Given the description of an element on the screen output the (x, y) to click on. 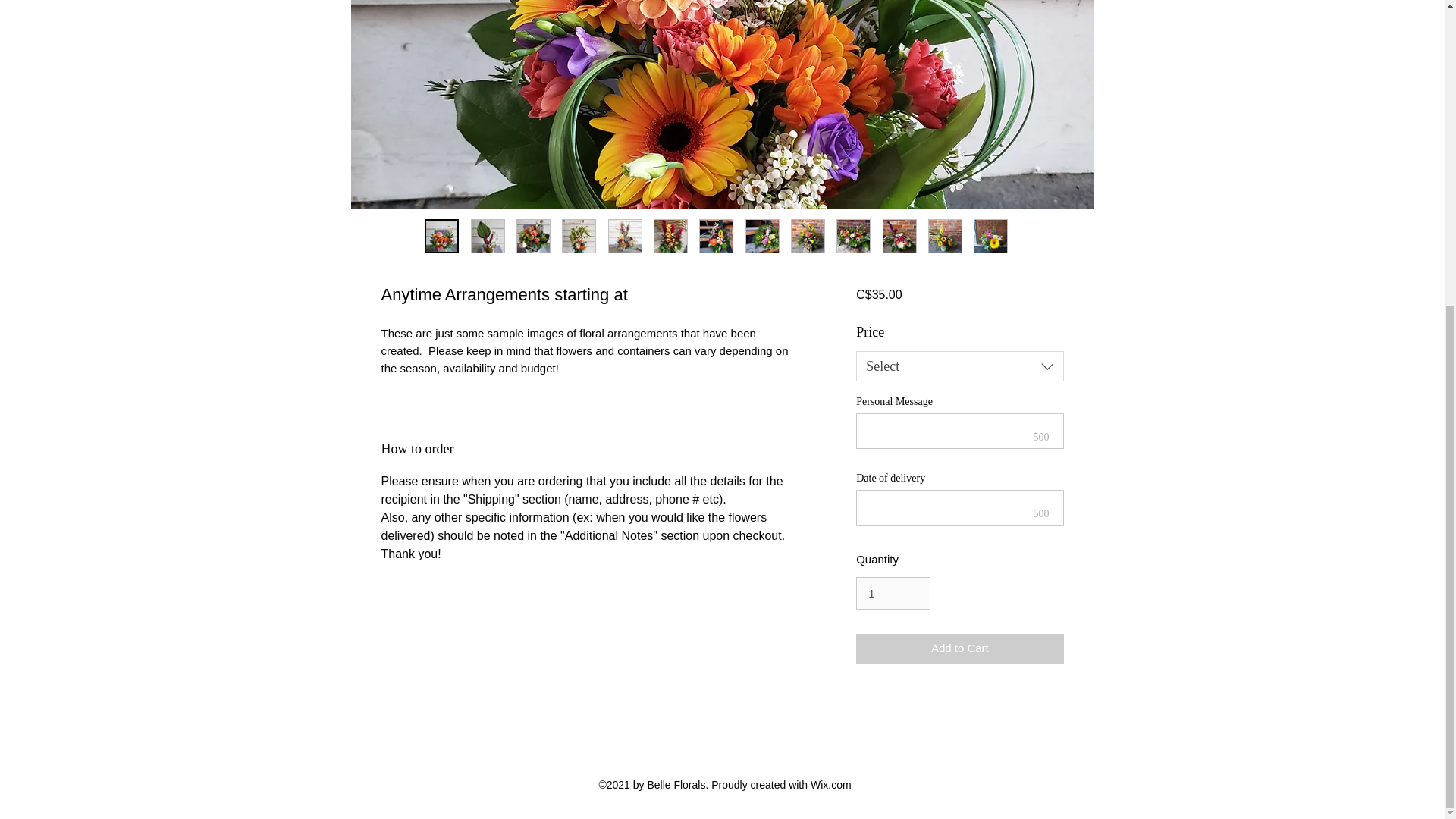
Add to Cart (959, 648)
Select (959, 366)
1 (893, 593)
